Given the description of an element on the screen output the (x, y) to click on. 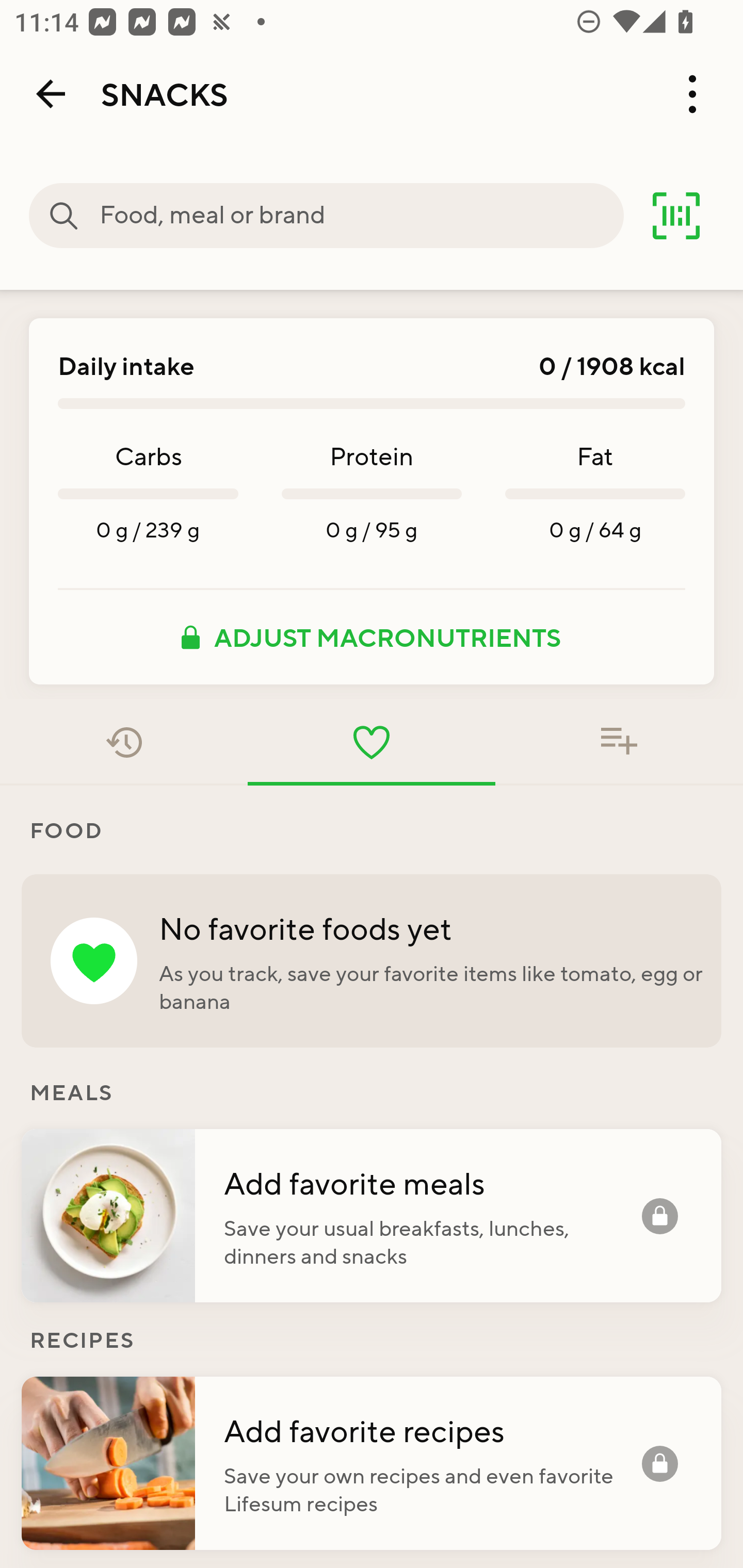
Back (50, 93)
Food, meal or brand (63, 215)
Food, meal or brand (361, 215)
ADJUST MACRONUTRIENTS (371, 637)
Recent (123, 742)
Food added (619, 742)
Add favorite meals (432, 1182)
Add favorite recipes (432, 1429)
